Given the description of an element on the screen output the (x, y) to click on. 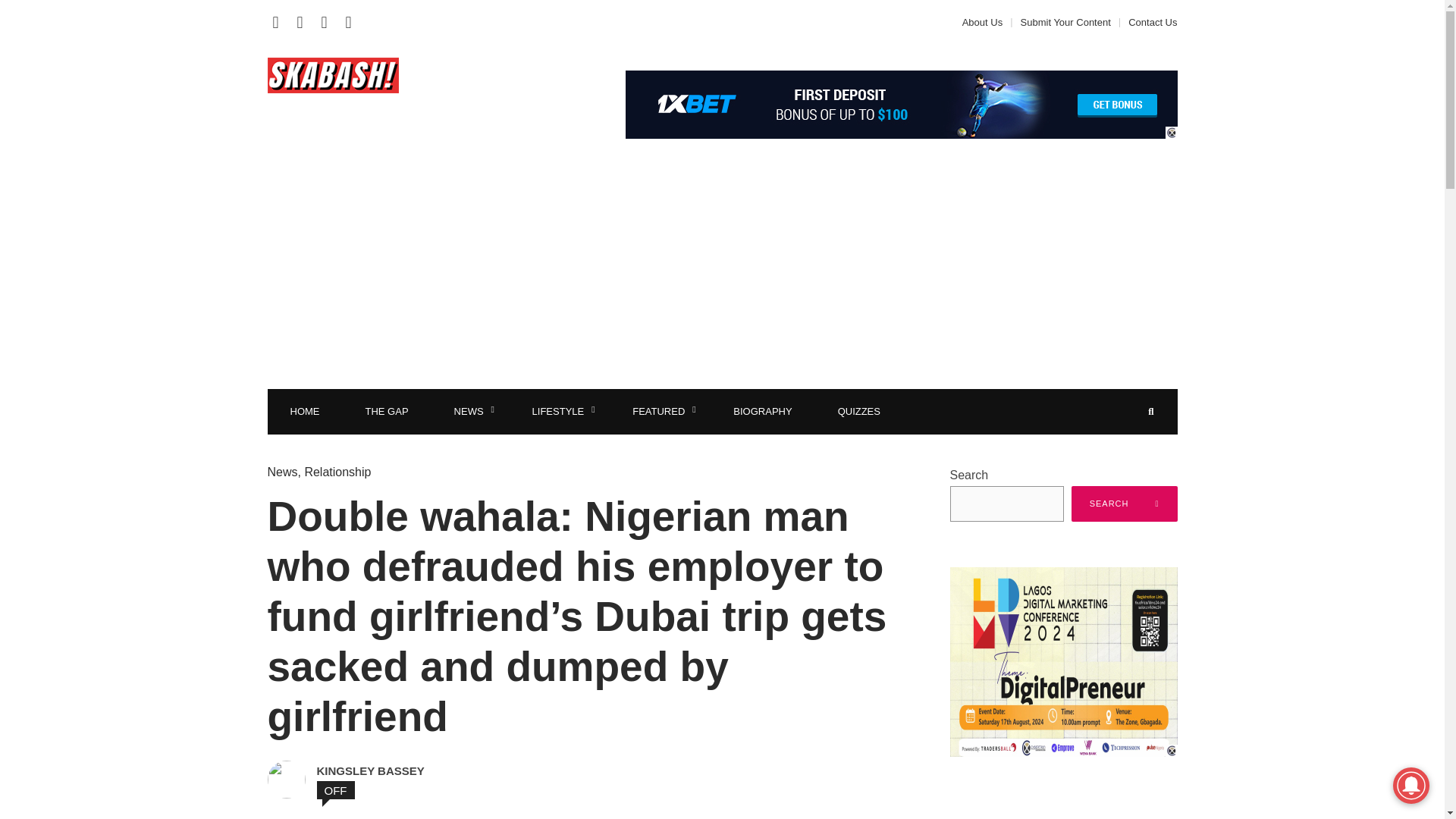
Submit Your Content (1065, 21)
LIFESTYLE (559, 411)
HOME (304, 411)
THE GAP (386, 411)
Contact Us (1148, 21)
NEWS (469, 411)
About Us (986, 21)
View all posts by Kingsley Bassey (422, 770)
